Given the description of an element on the screen output the (x, y) to click on. 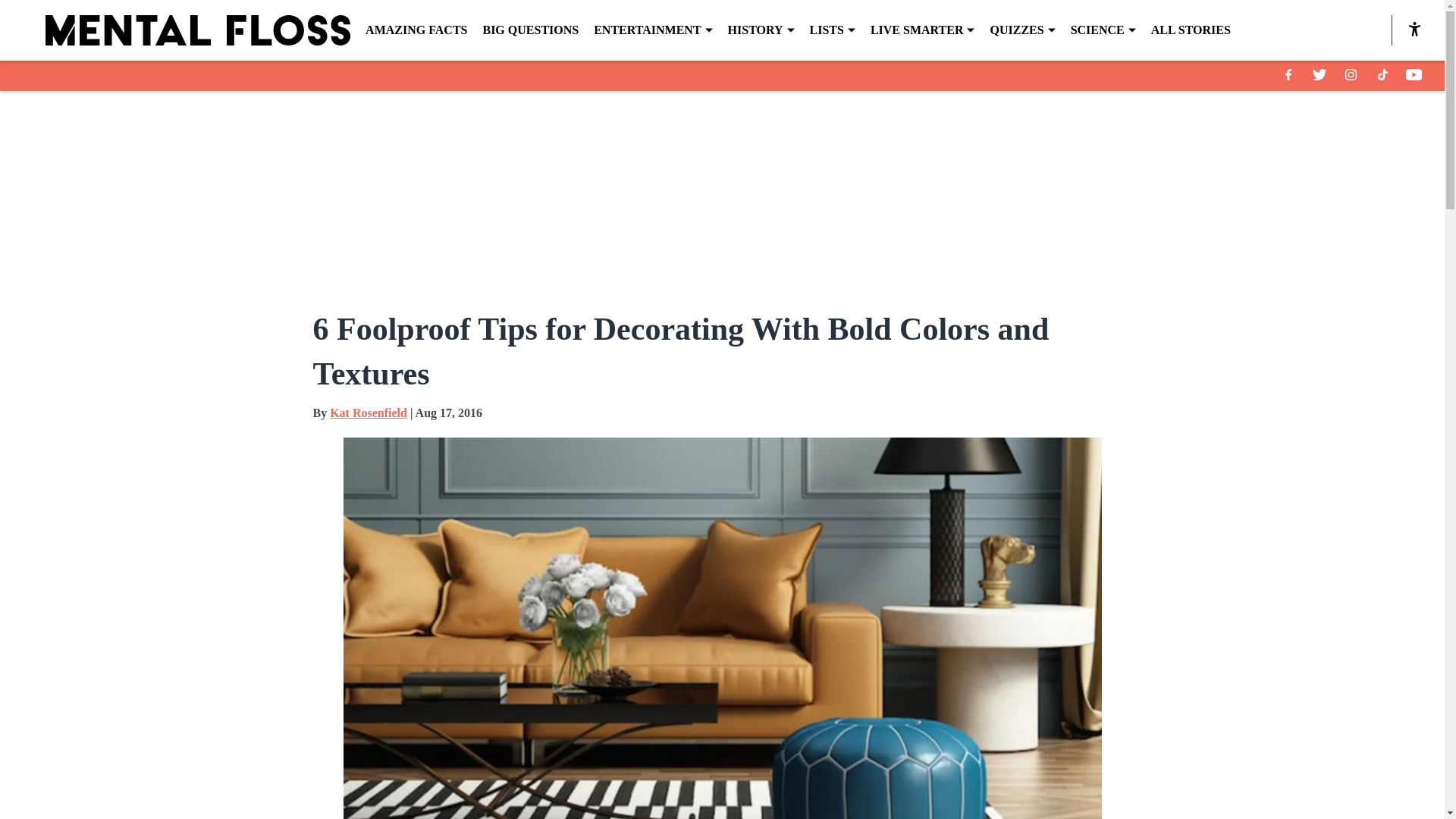
BIG QUESTIONS (529, 30)
ALL STORIES (1190, 30)
AMAZING FACTS (416, 30)
